Given the description of an element on the screen output the (x, y) to click on. 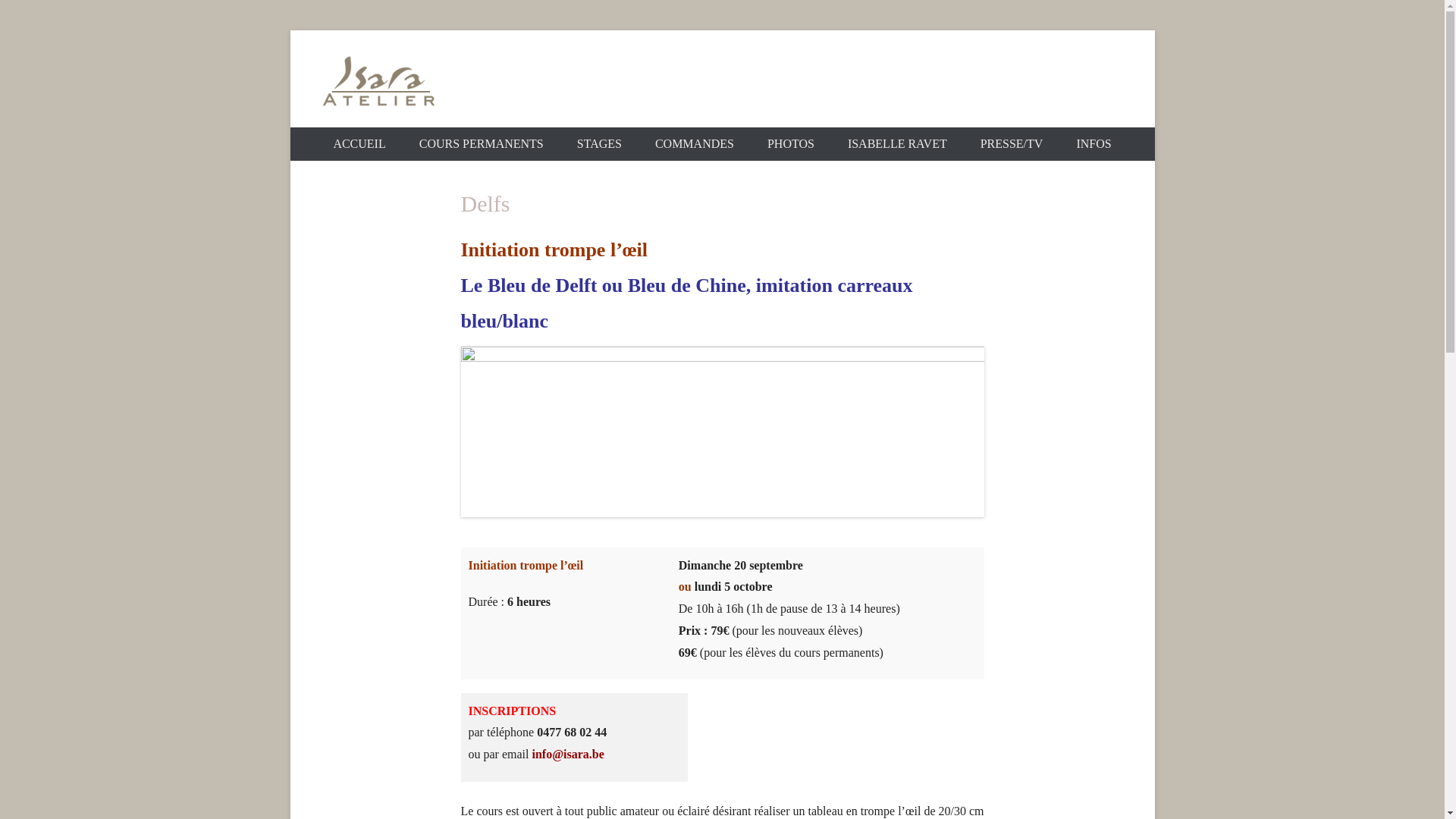
STAGES Element type: text (599, 143)
ISABELLE RAVET Element type: text (897, 143)
PRESSE/TV Element type: text (1011, 143)
Atelier ISARA Element type: text (439, 138)
INFOS Element type: text (1093, 143)
COURS PERMANENTS Element type: text (481, 143)
info@isara.be Element type: text (567, 753)
COMMANDES Element type: text (694, 143)
Skip to content Element type: text (289, 29)
ACCUEIL Element type: text (358, 143)
PHOTOS Element type: text (790, 143)
